Given the description of an element on the screen output the (x, y) to click on. 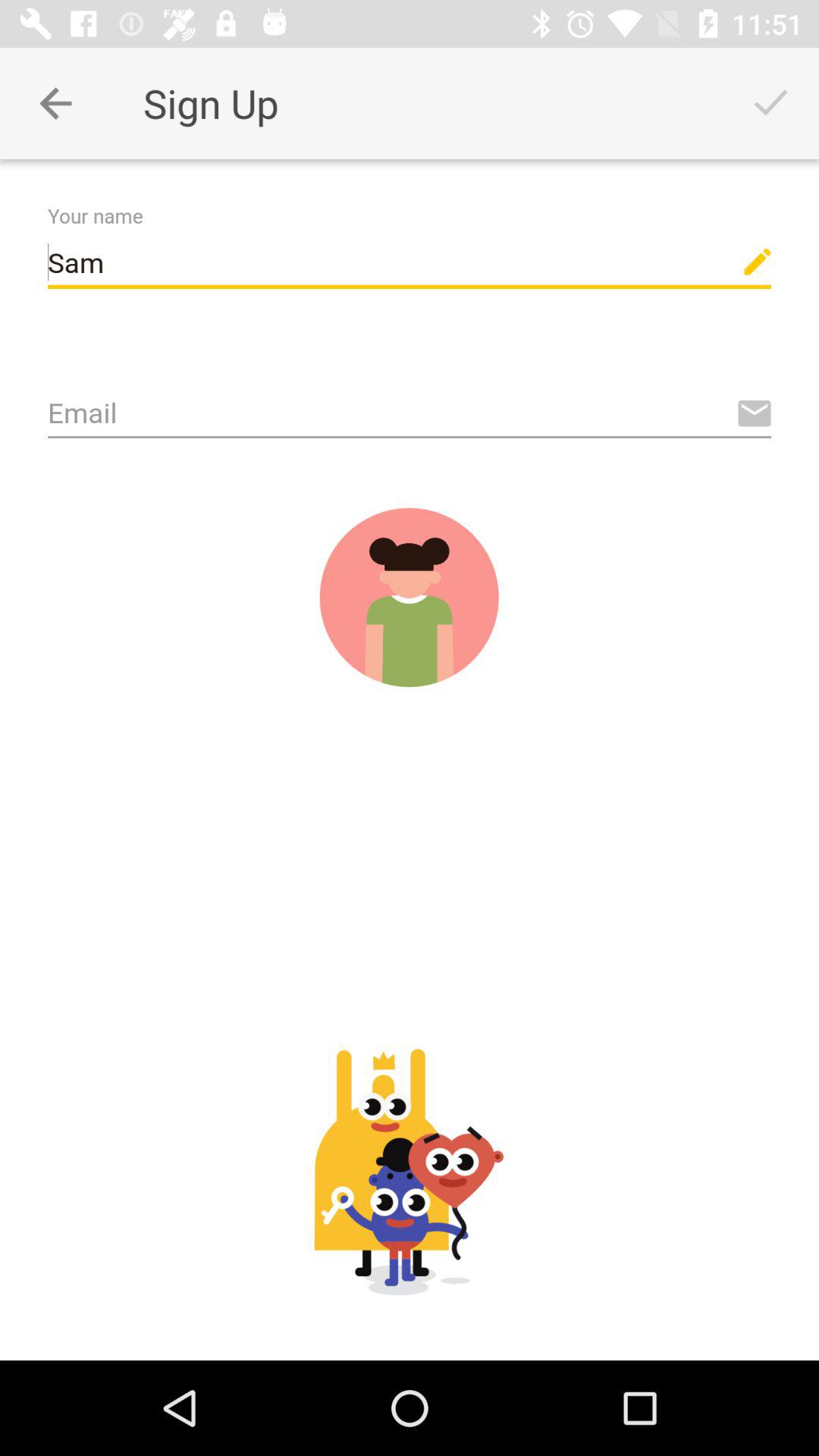
enter email (409, 413)
